Given the description of an element on the screen output the (x, y) to click on. 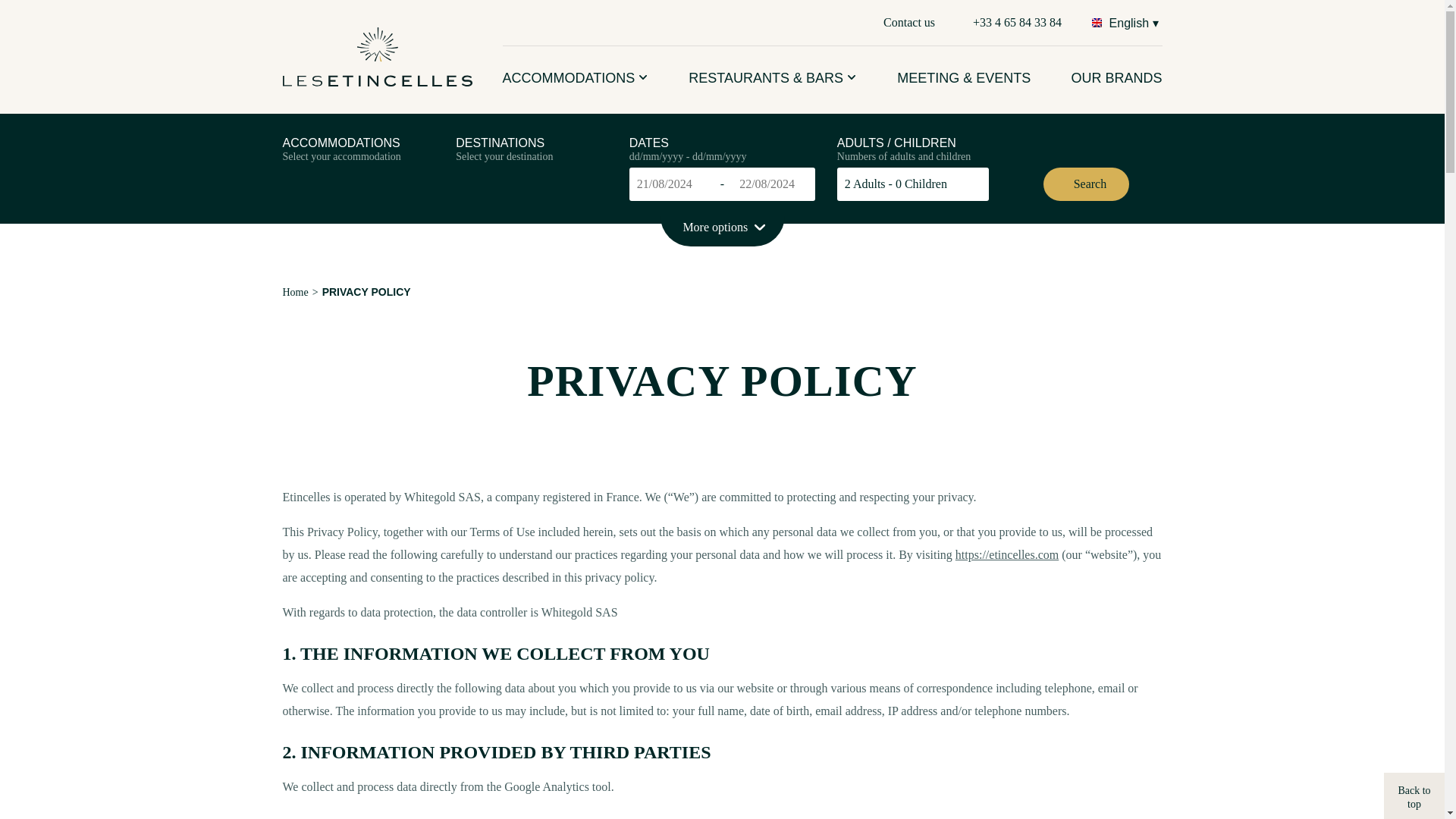
Contact us (909, 22)
ACCOMMODATIONS (574, 79)
English (1124, 22)
Call us (1016, 22)
Back to homepage (376, 56)
Contact us (909, 22)
